Given the description of an element on the screen output the (x, y) to click on. 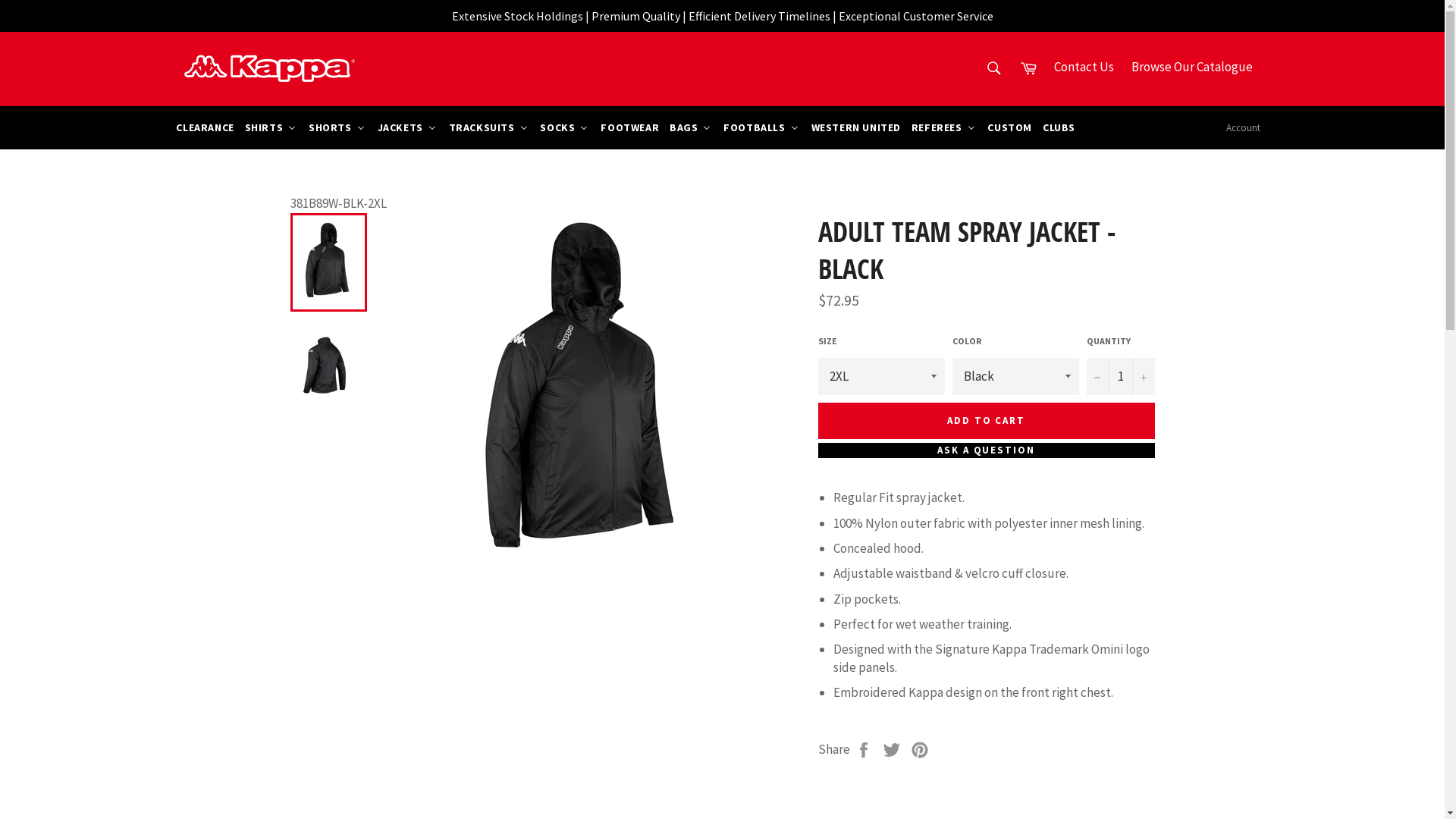
ADD TO CART Element type: text (985, 420)
BAGS Element type: text (690, 127)
Share Element type: text (864, 748)
+ Element type: text (1142, 376)
Account Element type: text (1242, 128)
JACKETS Element type: text (407, 127)
FOOTBALLS Element type: text (760, 127)
Cart Element type: text (1028, 68)
SHIRTS Element type: text (270, 127)
SOCKS Element type: text (564, 127)
CLUBS Element type: text (1058, 127)
WESTERN UNITED Element type: text (854, 127)
CLEARANCE Element type: text (203, 127)
Browse Our Catalogue Element type: text (1191, 67)
SHORTS Element type: text (337, 127)
CUSTOM Element type: text (1008, 127)
Contact Us Element type: text (1083, 67)
Tweet Element type: text (892, 748)
REFEREES Element type: text (943, 127)
ASK A QUESTION Element type: text (985, 450)
Search Element type: text (994, 68)
Pin it Element type: text (919, 748)
TRACKSUITS Element type: text (488, 127)
FOOTWEAR Element type: text (629, 127)
